Given the description of an element on the screen output the (x, y) to click on. 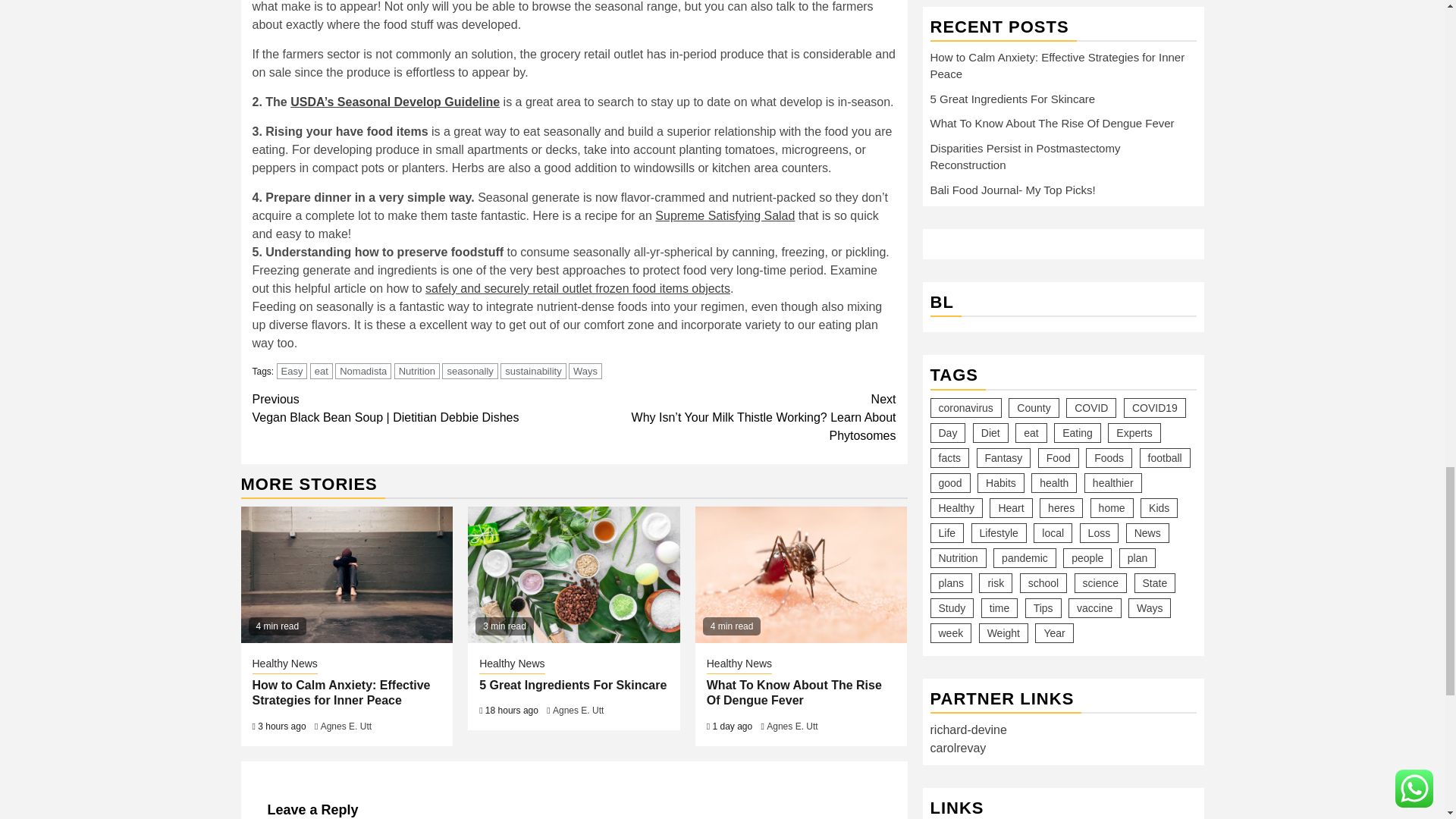
seasonally (469, 371)
Agnes E. Utt (345, 726)
Nutrition (416, 371)
Nomadista (362, 371)
How to Calm Anxiety: Effective Strategies for Inner Peace (346, 574)
Easy (291, 371)
What To Know About The Rise Of Dengue Fever (801, 574)
safely and securely retail outlet frozen food items objects (577, 287)
sustainability (533, 371)
eat (321, 371)
5 Great Ingredients For Skincare (573, 574)
Supreme Satisfying Salad (724, 215)
Ways (585, 371)
Healthy News (284, 665)
How to Calm Anxiety: Effective Strategies for Inner Peace (340, 692)
